Given the description of an element on the screen output the (x, y) to click on. 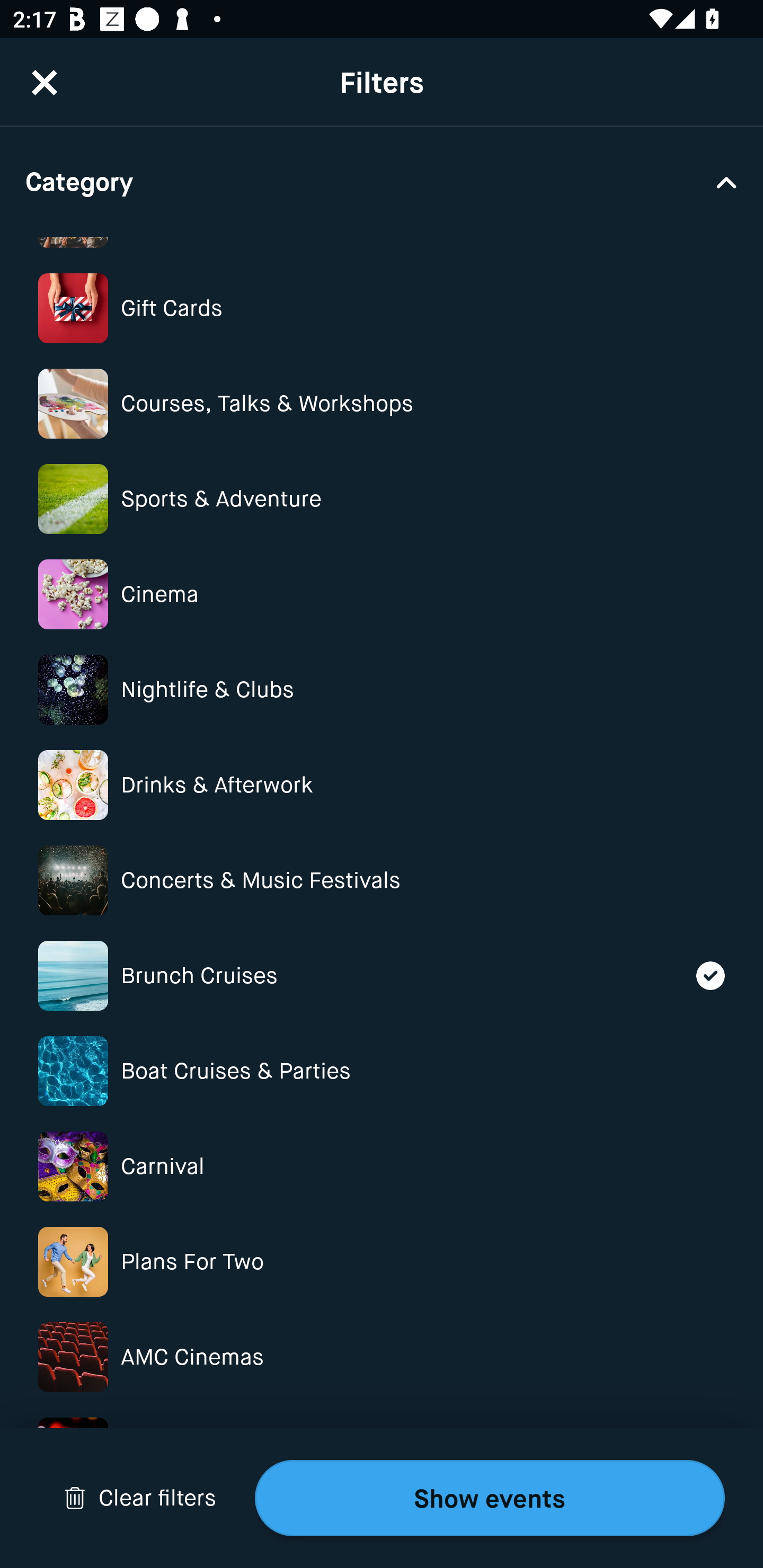
Category Drop Down Arrow (381, 181)
Category Image Gift Cards (381, 307)
Category Image Courses, Talks & Workshops (381, 403)
Category Image Sports & Adventure (381, 498)
Category Image Cinema (381, 593)
Category Image Nightlife & Clubs (381, 689)
Category Image Drinks & Afterwork (381, 784)
Category Image Concerts & Music Festivals (381, 880)
Category Image Brunch Cruises Selected Icon (381, 975)
Category Image Boat Cruises & Parties (381, 1070)
Category Image Carnival (381, 1166)
Category Image Plans For Two (381, 1261)
Category Image AMC Cinemas (381, 1356)
Drop Down Arrow Clear filters (139, 1497)
Show events (489, 1497)
